Given the description of an element on the screen output the (x, y) to click on. 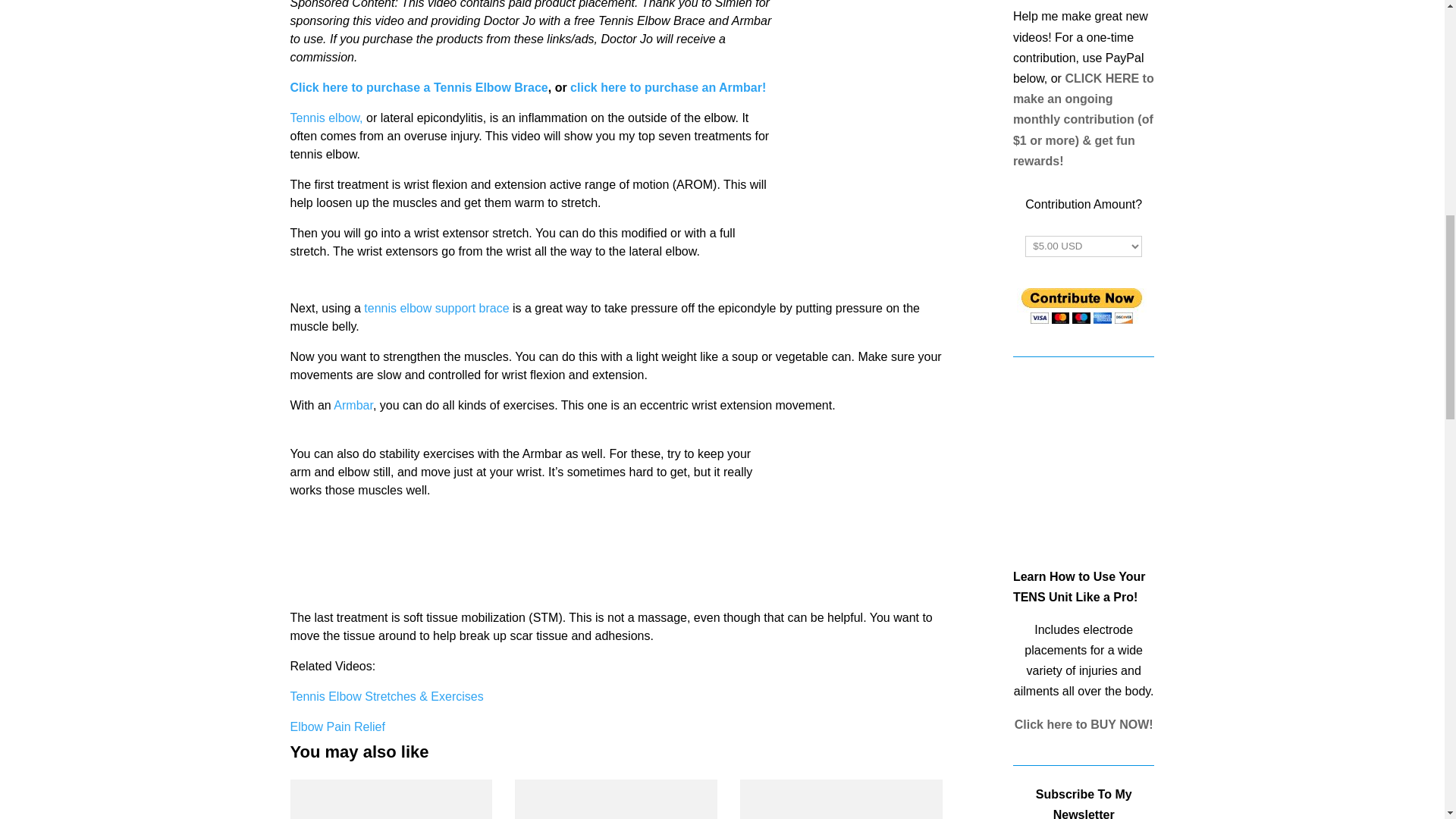
tennis elbow support brace (436, 308)
click here to purchase an Armbar! (667, 87)
Armbar (352, 404)
Click here to purchase a Tennis Elbow Brace (418, 87)
Elbow Pain Relief (336, 726)
Tennis elbow, (325, 117)
